Given the description of an element on the screen output the (x, y) to click on. 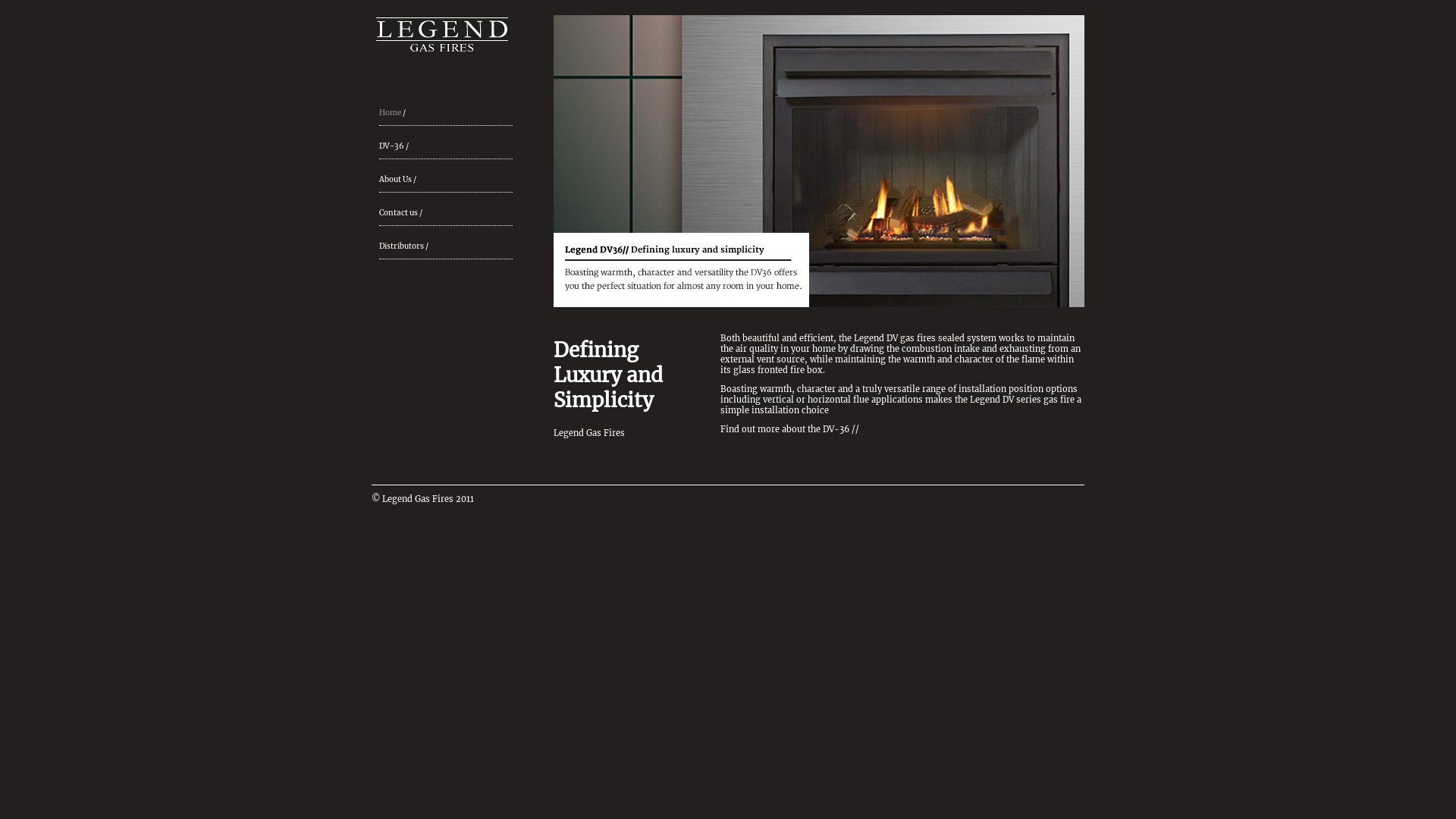
About Us Element type: text (395, 179)
DV-36 Element type: text (391, 145)
Contact us Element type: text (398, 212)
Find out more about the DV-36 // Element type: text (789, 428)
Distributors Element type: text (401, 246)
Home Element type: text (390, 112)
